Given the description of an element on the screen output the (x, y) to click on. 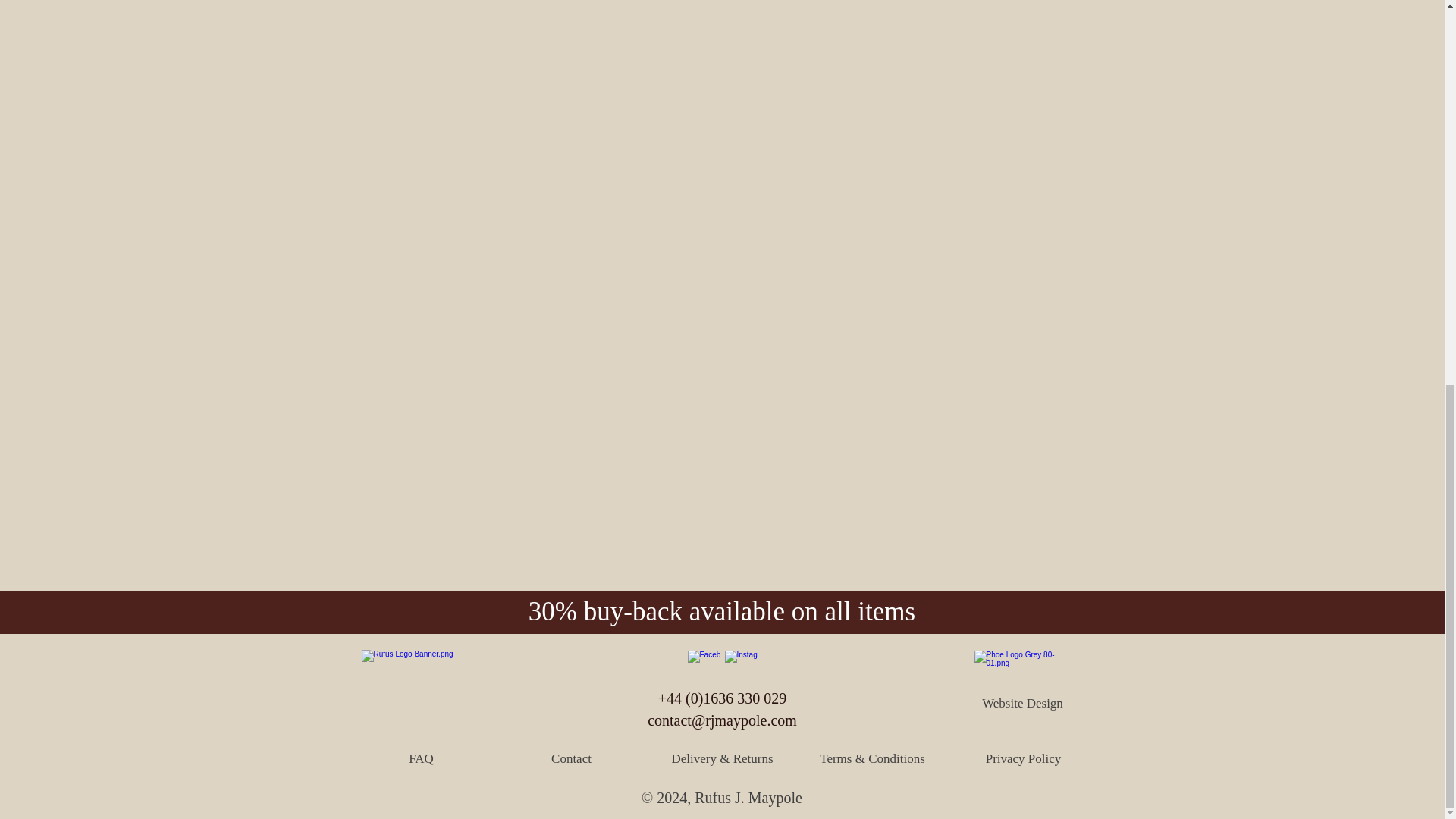
Contact (570, 758)
FAQ (420, 758)
Privacy Policy (1023, 758)
